Given the description of an element on the screen output the (x, y) to click on. 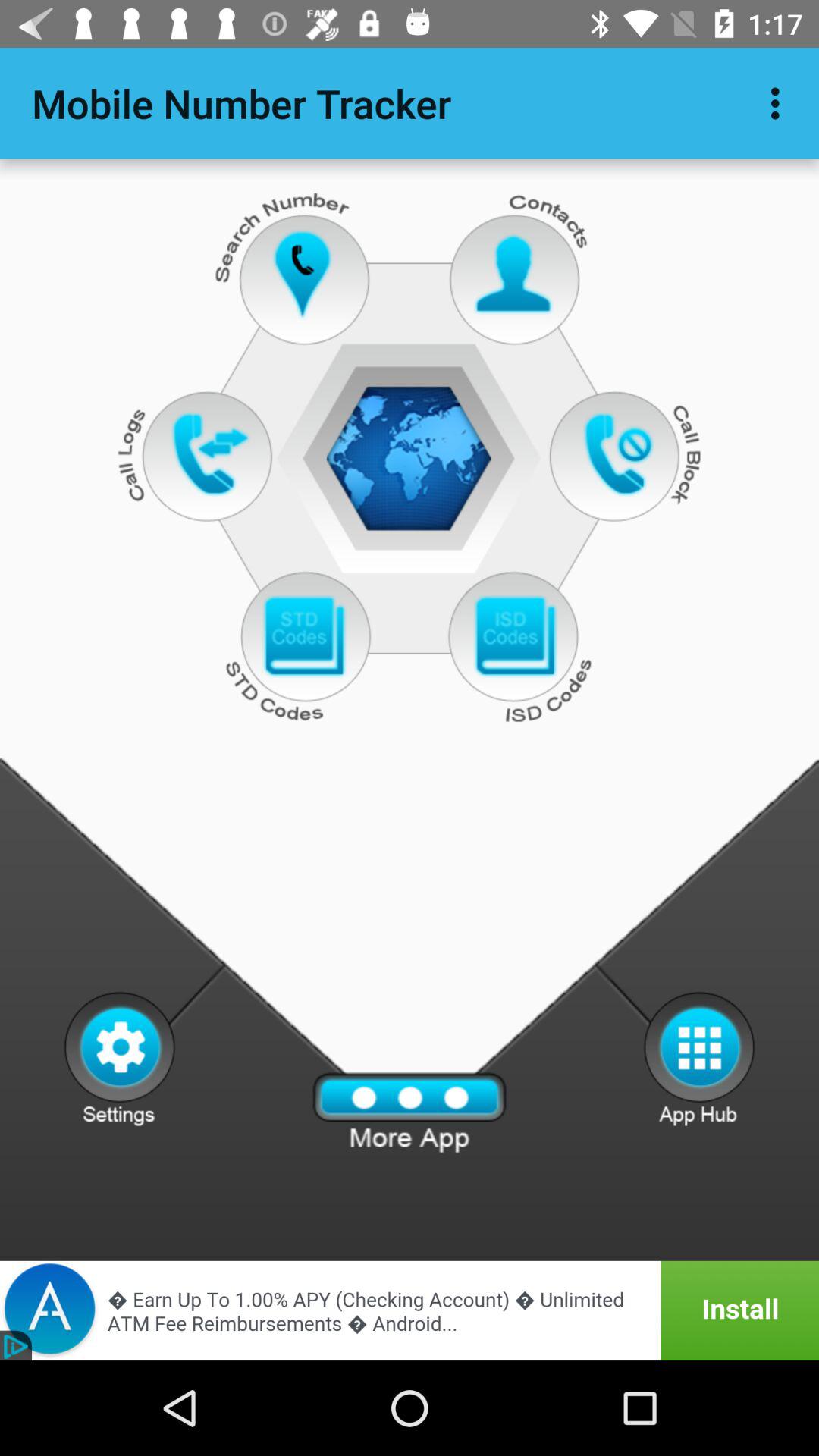
click for hub (698, 1057)
